Given the description of an element on the screen output the (x, y) to click on. 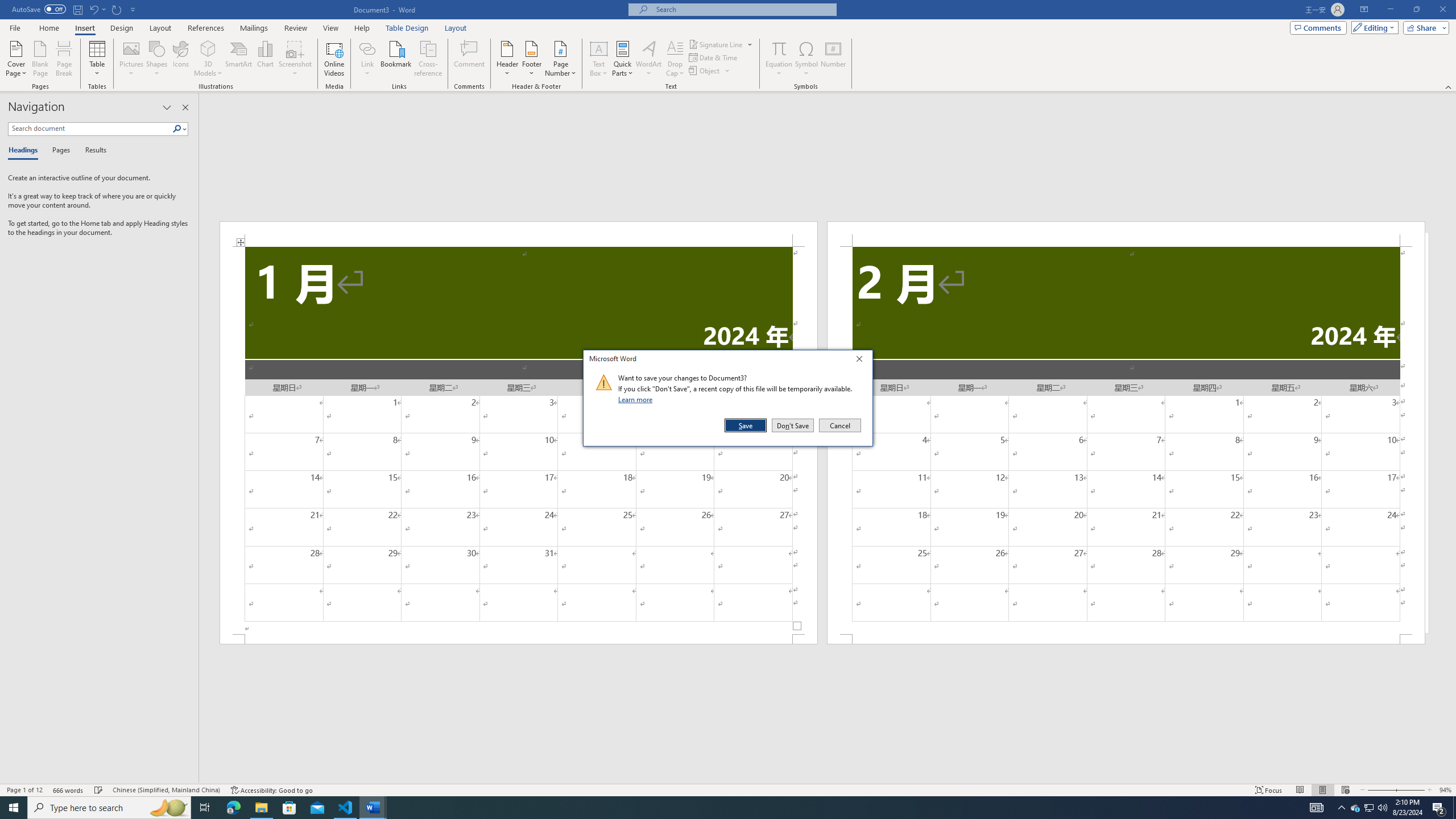
Cover Page (16, 58)
Shapes (156, 58)
Object... (705, 69)
Cross-reference... (428, 58)
Symbol (806, 58)
